Given the description of an element on the screen output the (x, y) to click on. 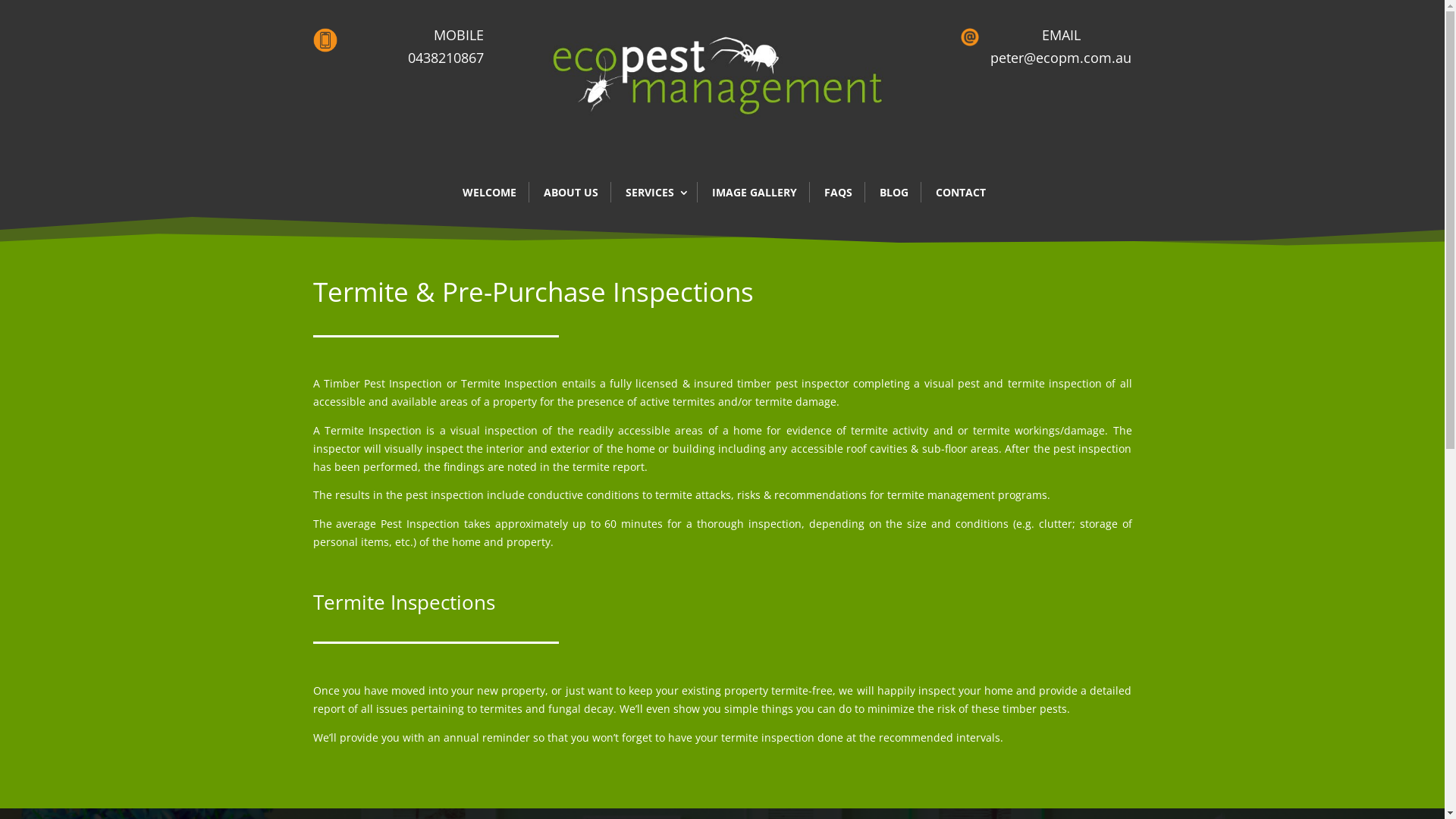
peter@ecopm.com.au Element type: text (1060, 57)
SERVICES Element type: text (654, 192)
FAQS Element type: text (837, 192)
ABOUT US Element type: text (569, 192)
CONTACT Element type: text (960, 192)
IMAGE GALLERY Element type: text (753, 192)
WELCOME Element type: text (489, 192)
BLOG Element type: text (893, 192)
